Given the description of an element on the screen output the (x, y) to click on. 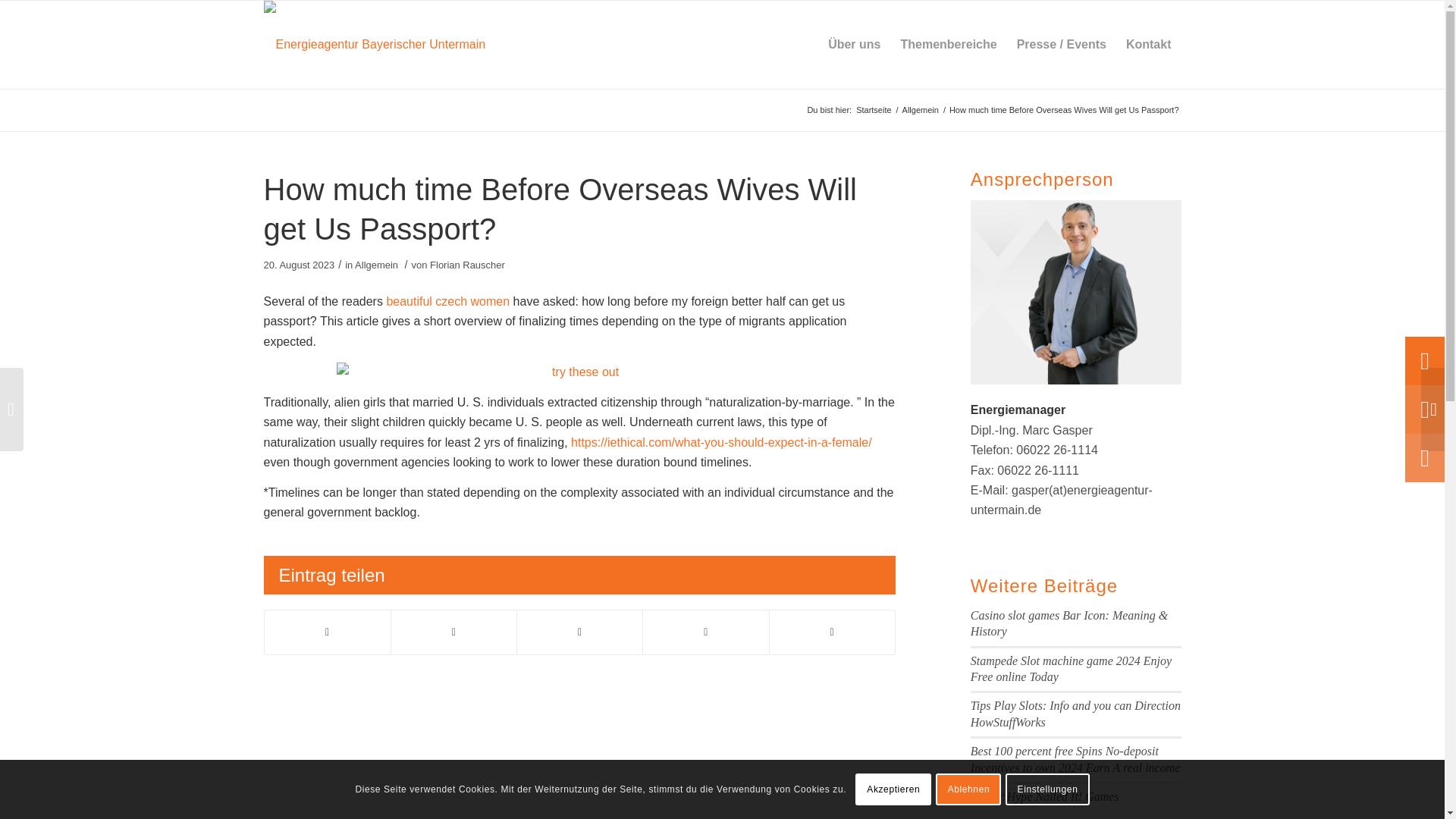
Energieagentur Bayerischer Untermain (873, 110)
Startseite (873, 110)
Tips Play Slots: Info and you can Direction HowStuffWorks (1075, 713)
beautiful czech women (447, 300)
Stampede Slot machine game 2024 Enjoy Free online Today (1071, 668)
Florian Rauscher (467, 265)
Allgemein (919, 110)
